Given the description of an element on the screen output the (x, y) to click on. 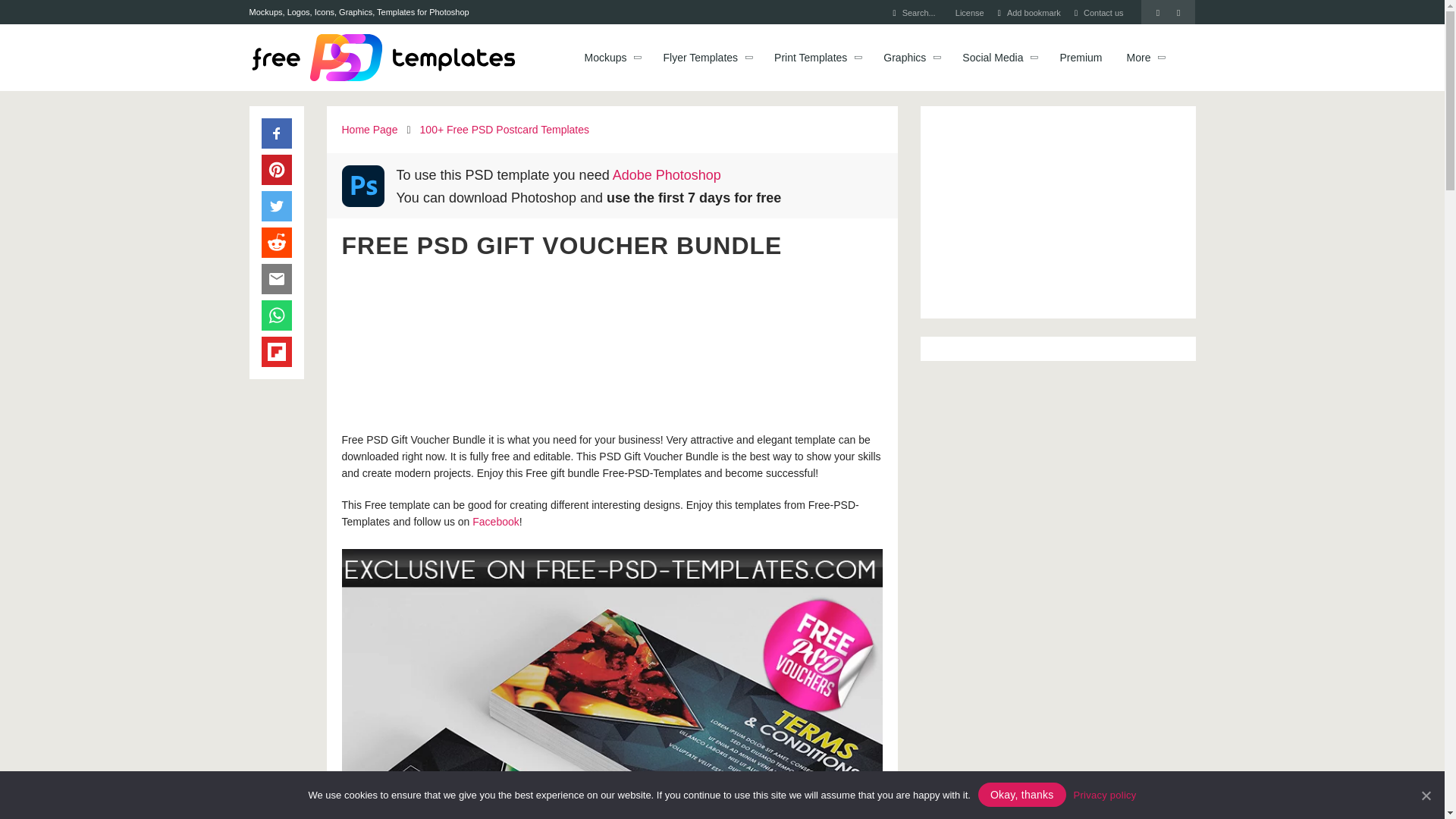
Advertisement (611, 344)
Search... (919, 12)
License (969, 12)
Flyer Templates (700, 57)
Mockups (605, 57)
Advertisement (1057, 212)
Contact us (1103, 12)
Contact us (1103, 12)
Search... (919, 12)
Add bookmark (1034, 12)
Add bookmark (1034, 12)
